Given the description of an element on the screen output the (x, y) to click on. 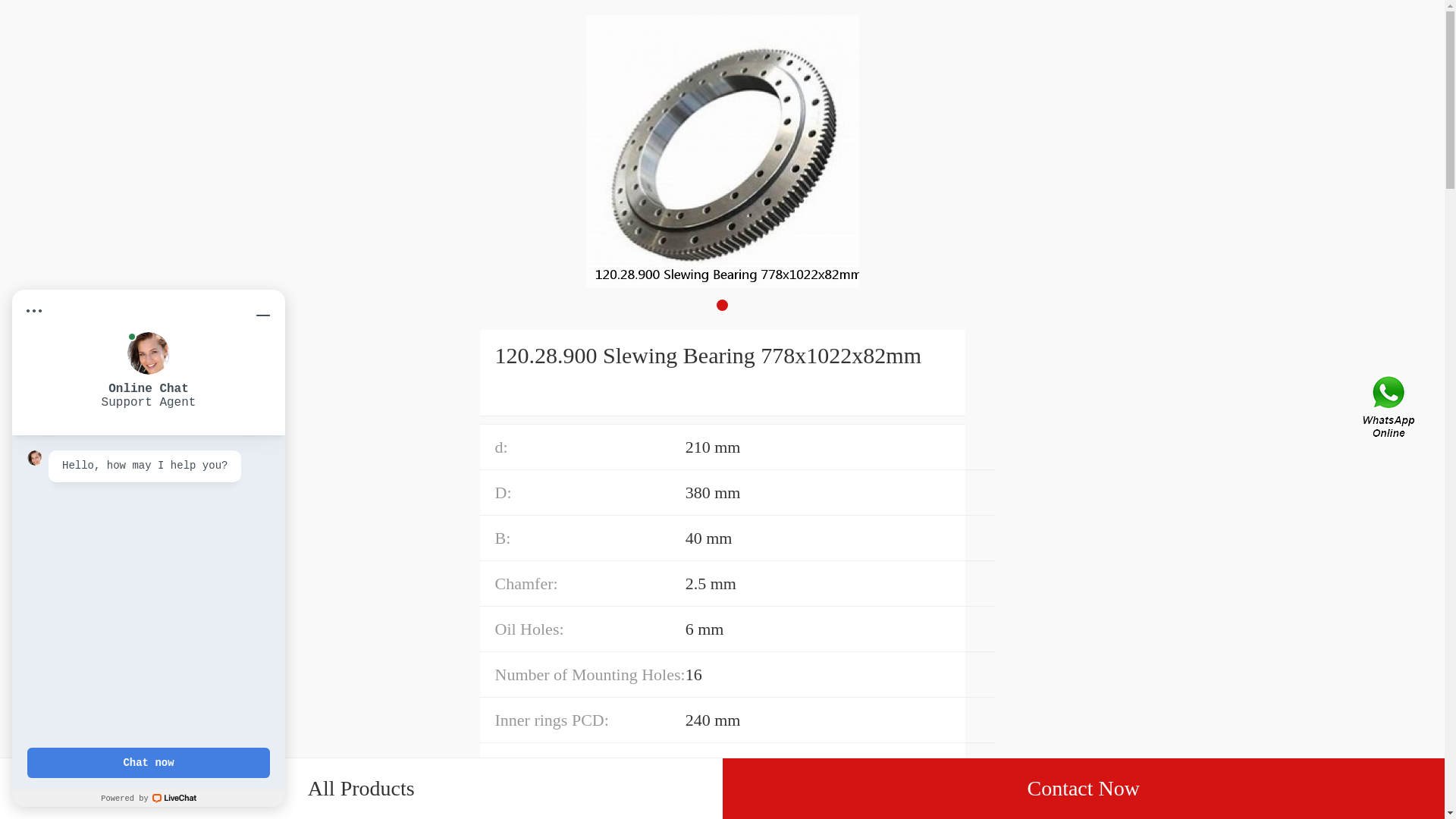
Contact Us Element type: hover (1389, 409)
